Given the description of an element on the screen output the (x, y) to click on. 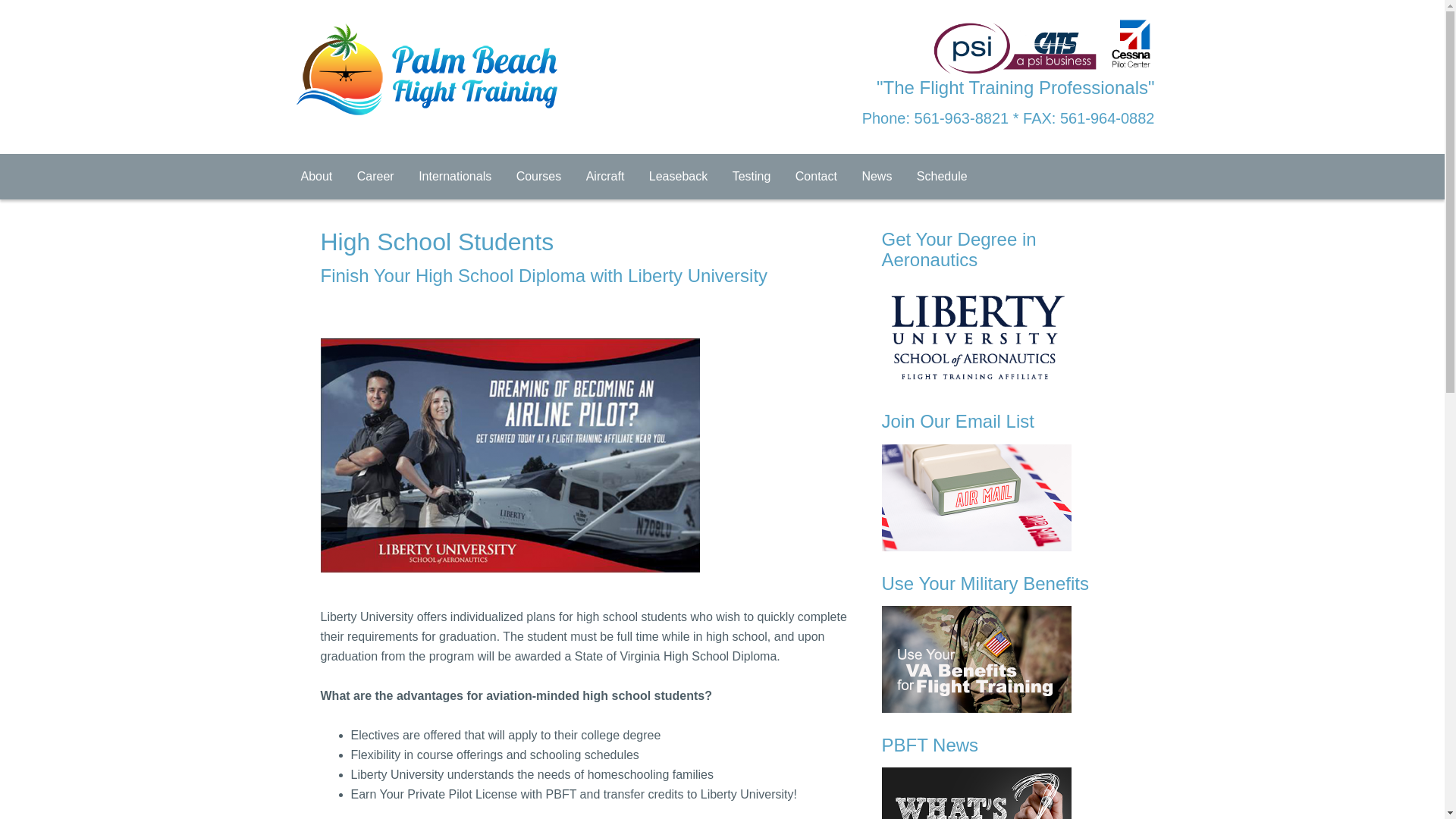
Join Our Email List (1002, 480)
PBFT News (1002, 777)
PALM BEACH FLIGHT TRAINING (410, 47)
Contact (815, 176)
Aircraft (604, 176)
Testing (751, 176)
Courses (538, 176)
News (876, 176)
Internationals (454, 176)
Get Your Degree in Aeronautics (1002, 309)
Career (375, 176)
About (315, 176)
Use Your Military Benefits (1002, 642)
Leaseback (678, 176)
Schedule (941, 176)
